Given the description of an element on the screen output the (x, y) to click on. 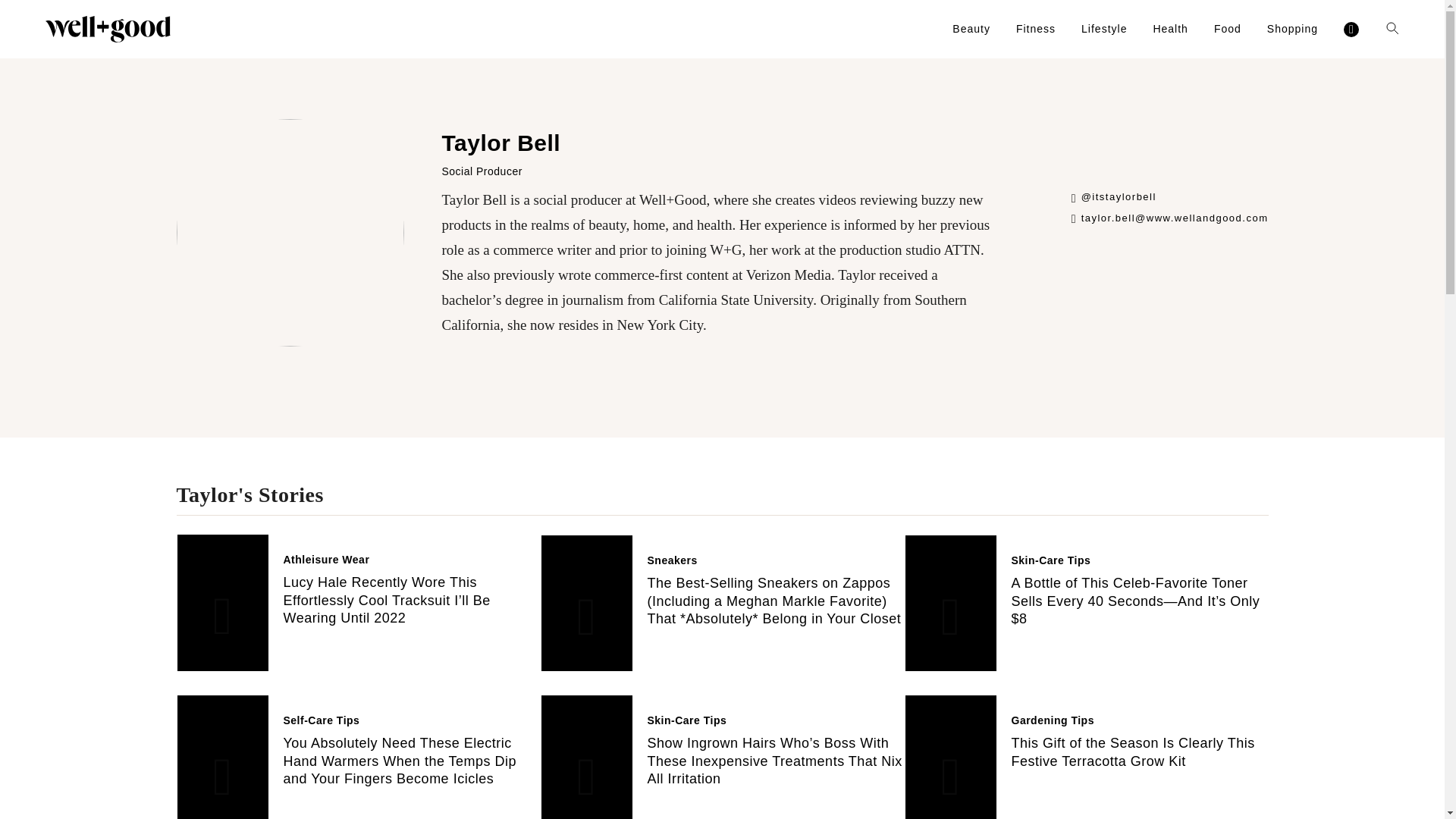
Food (1227, 29)
Lifestyle (1103, 29)
Shopping (1291, 29)
Health (1170, 29)
Fitness (1035, 29)
Beauty (971, 29)
